Given the description of an element on the screen output the (x, y) to click on. 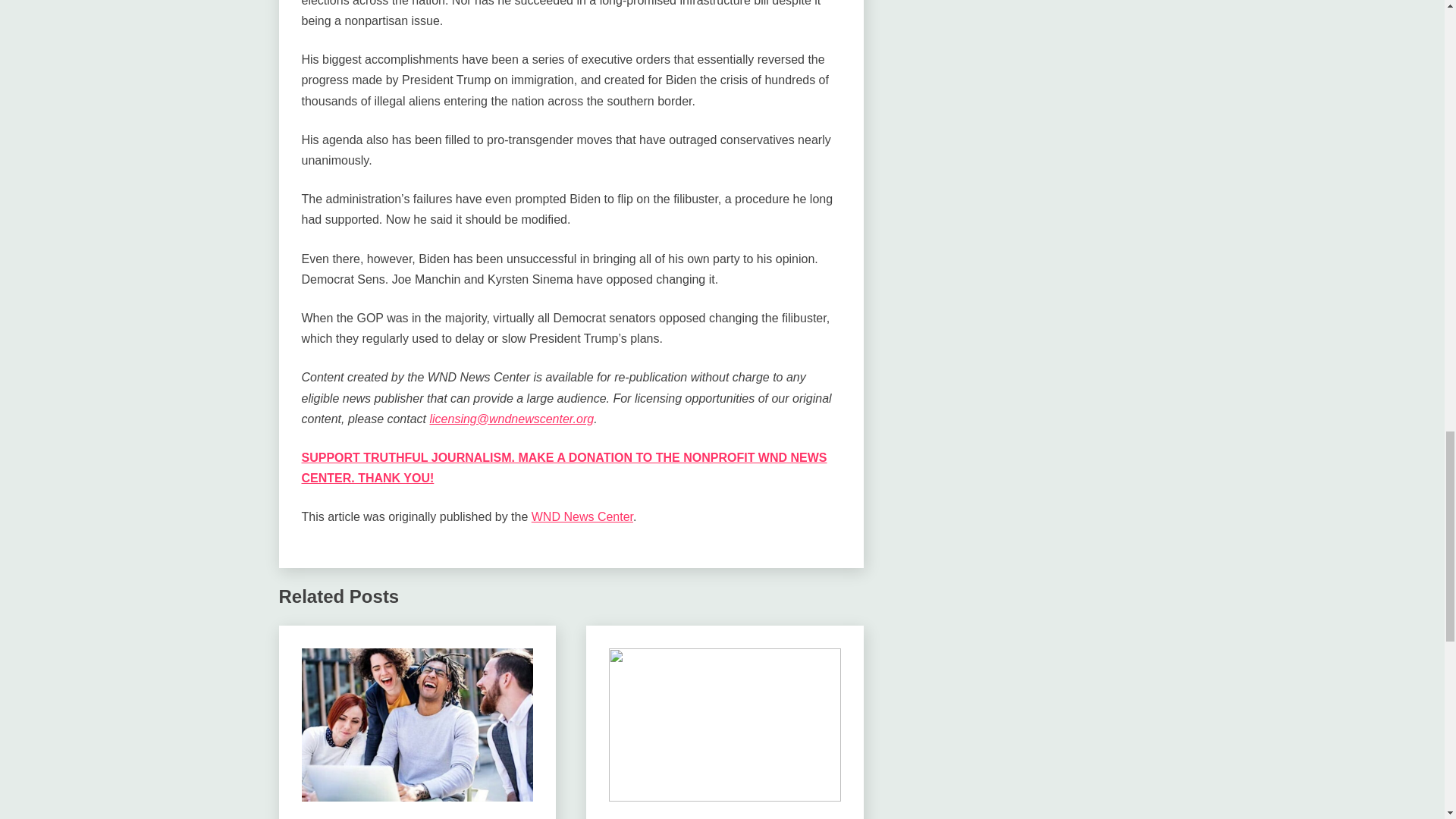
WND News Center (349, 818)
WND News Center (656, 818)
WND News Center (582, 516)
